Given the description of an element on the screen output the (x, y) to click on. 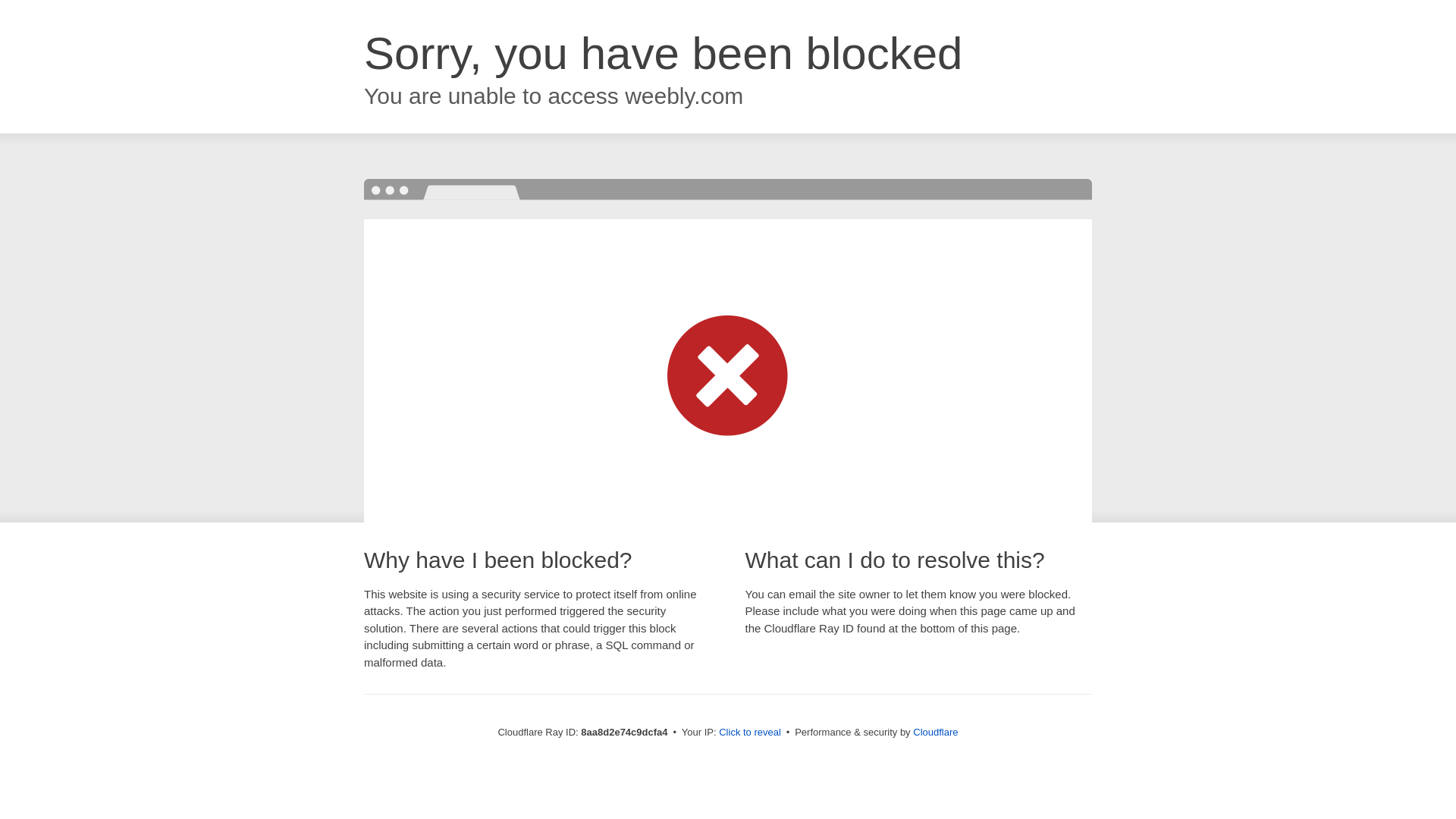
Cloudflare (935, 731)
Click to reveal (749, 732)
